Given the description of an element on the screen output the (x, y) to click on. 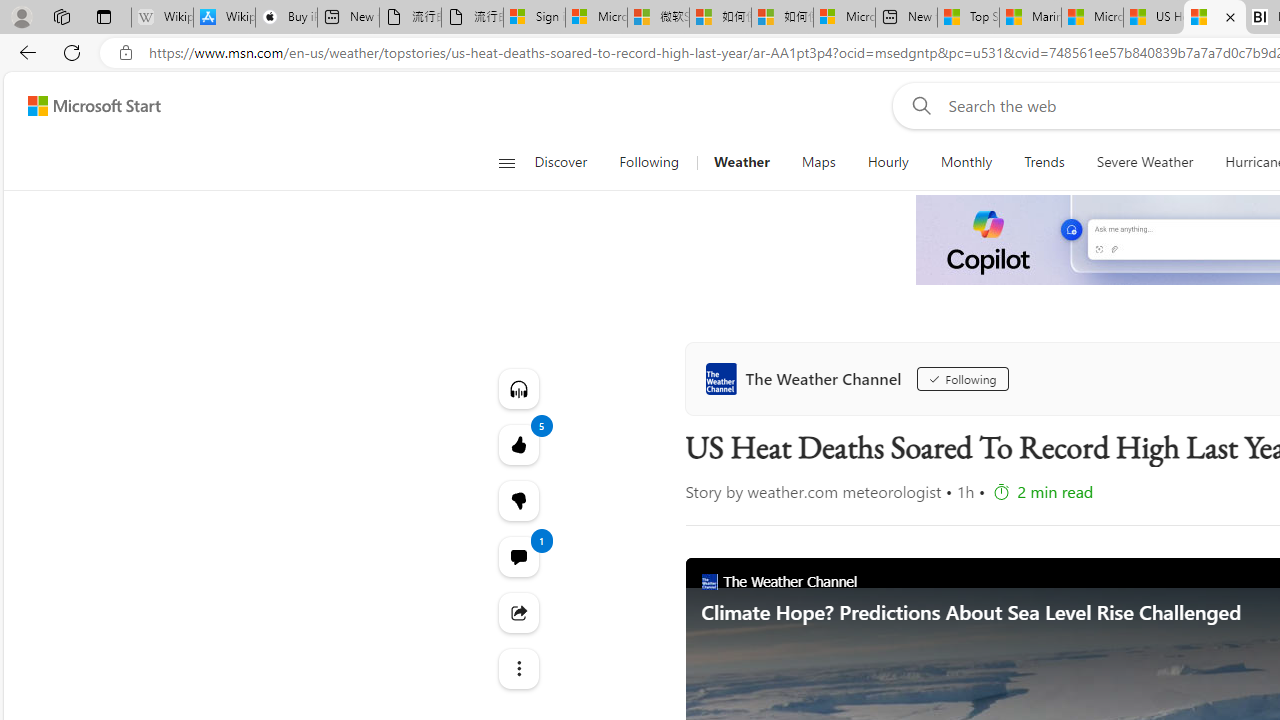
Marine life - MSN (1030, 17)
See more (517, 668)
View site information (125, 53)
Following (955, 378)
View comments 1 Comment (517, 556)
New tab (905, 17)
Trends (1044, 162)
Workspaces (61, 16)
Personal Profile (21, 16)
